Given the description of an element on the screen output the (x, y) to click on. 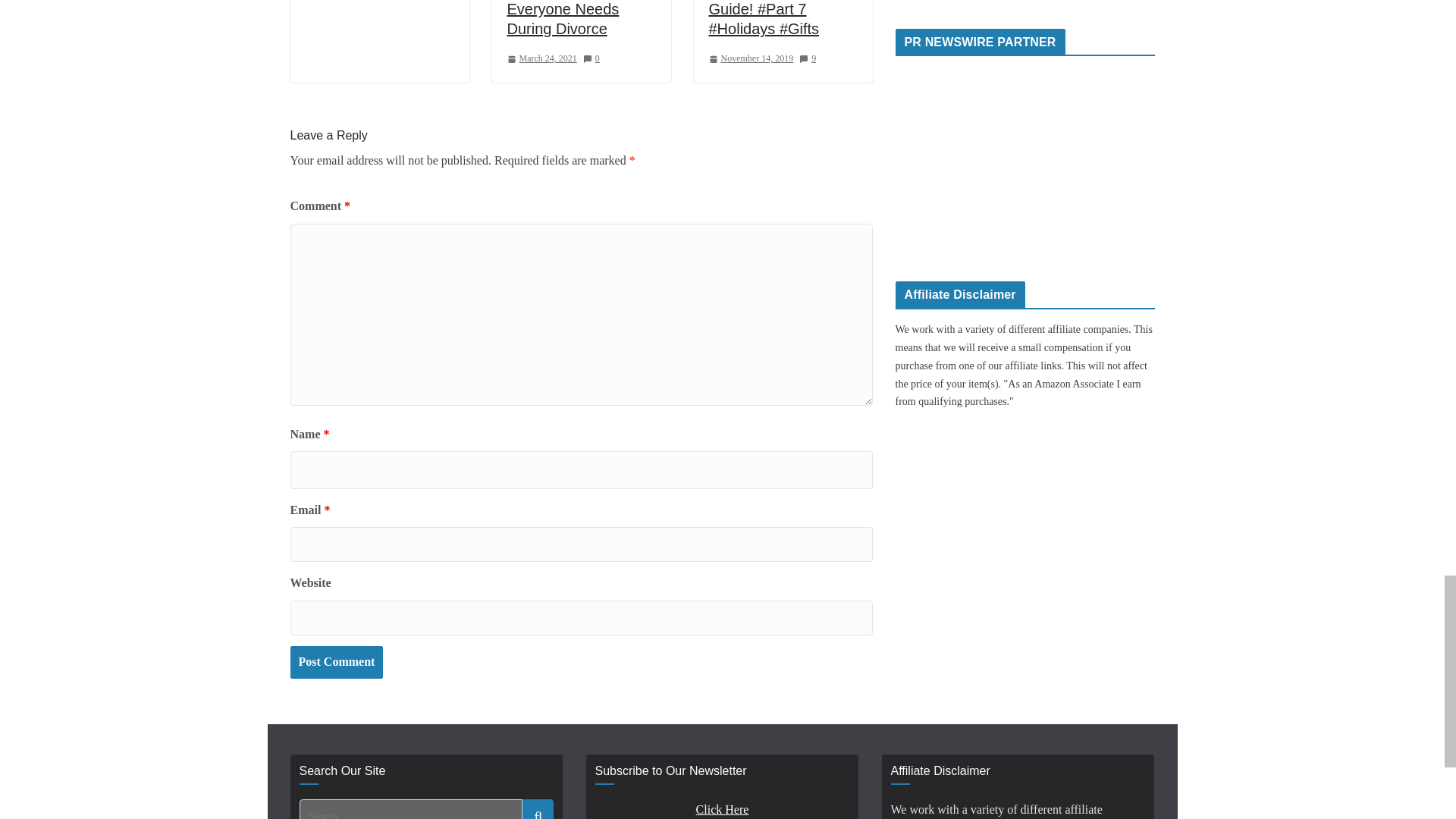
Post Comment (335, 662)
